Given the description of an element on the screen output the (x, y) to click on. 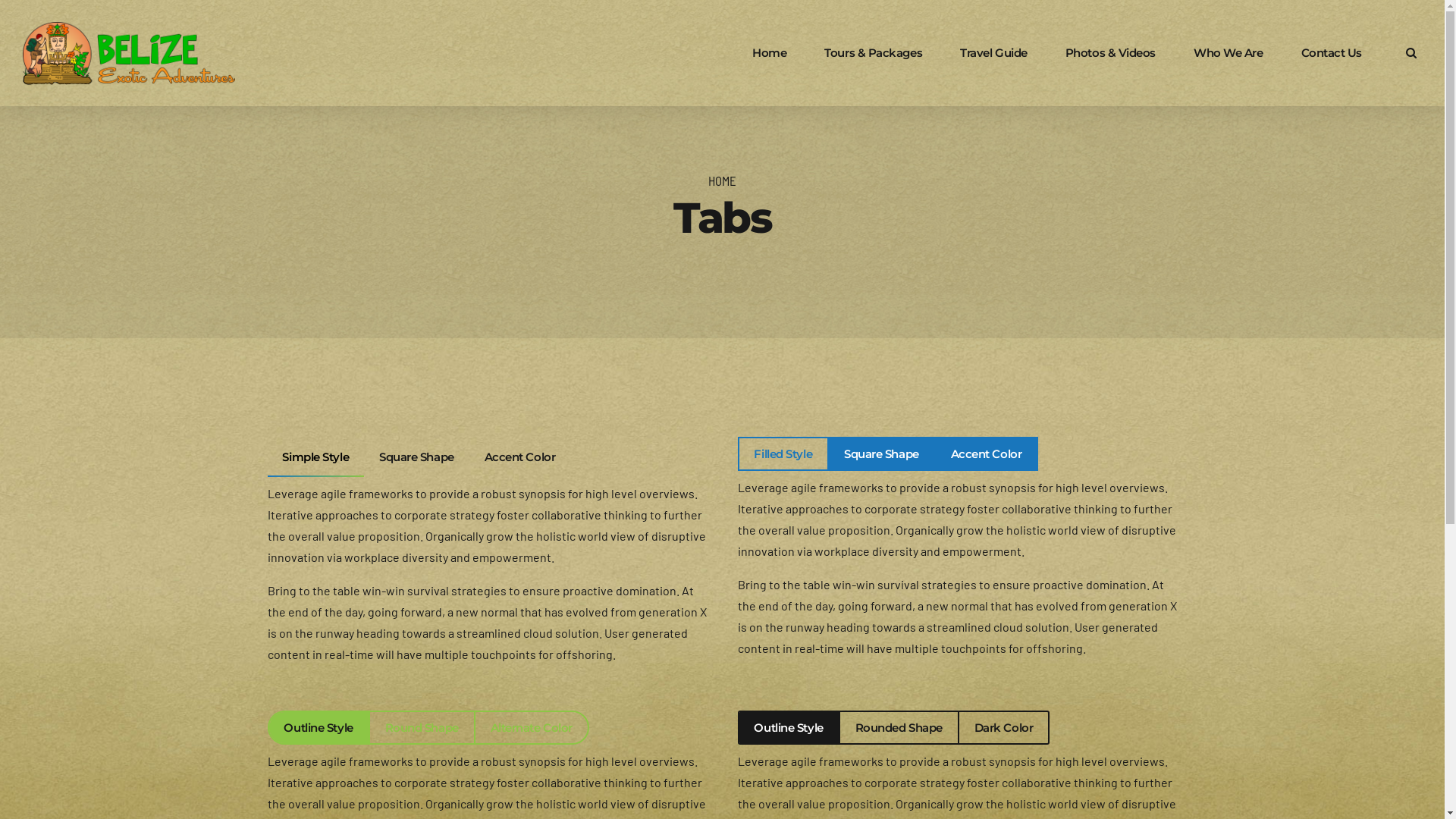
Home Element type: text (769, 53)
Who We Are Element type: text (1228, 53)
Contact Us Element type: text (1331, 53)
HOME Element type: text (722, 180)
Photos & Videos Element type: text (1110, 53)
Travel Guide Element type: text (993, 53)
Tours & Packages Element type: text (873, 53)
